Given the description of an element on the screen output the (x, y) to click on. 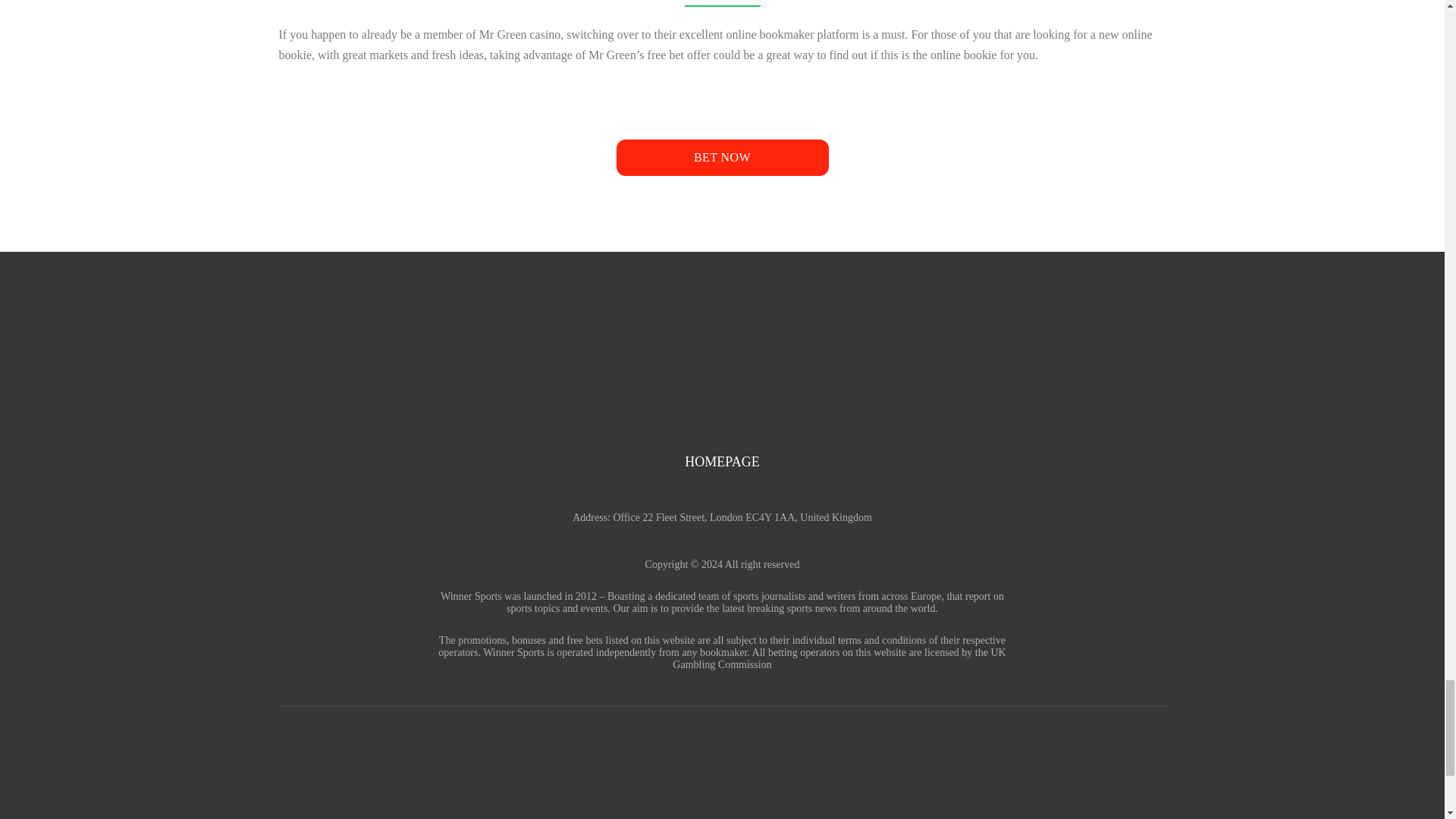
BET NOW (721, 157)
HOMEPAGE (721, 461)
